Given the description of an element on the screen output the (x, y) to click on. 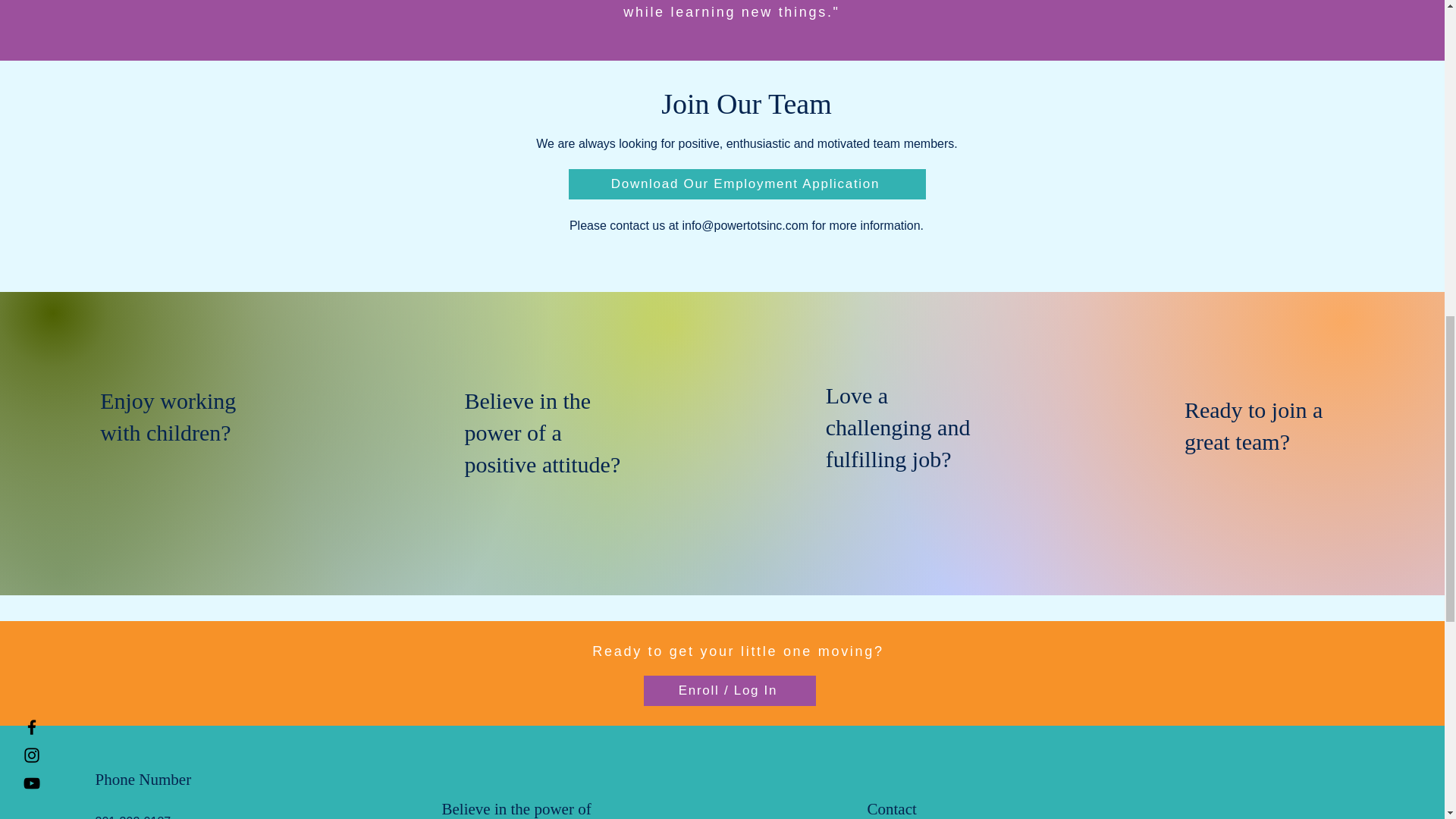
301-392 (117, 816)
-0187 (154, 816)
Download Our Employment Application (747, 183)
